Given the description of an element on the screen output the (x, y) to click on. 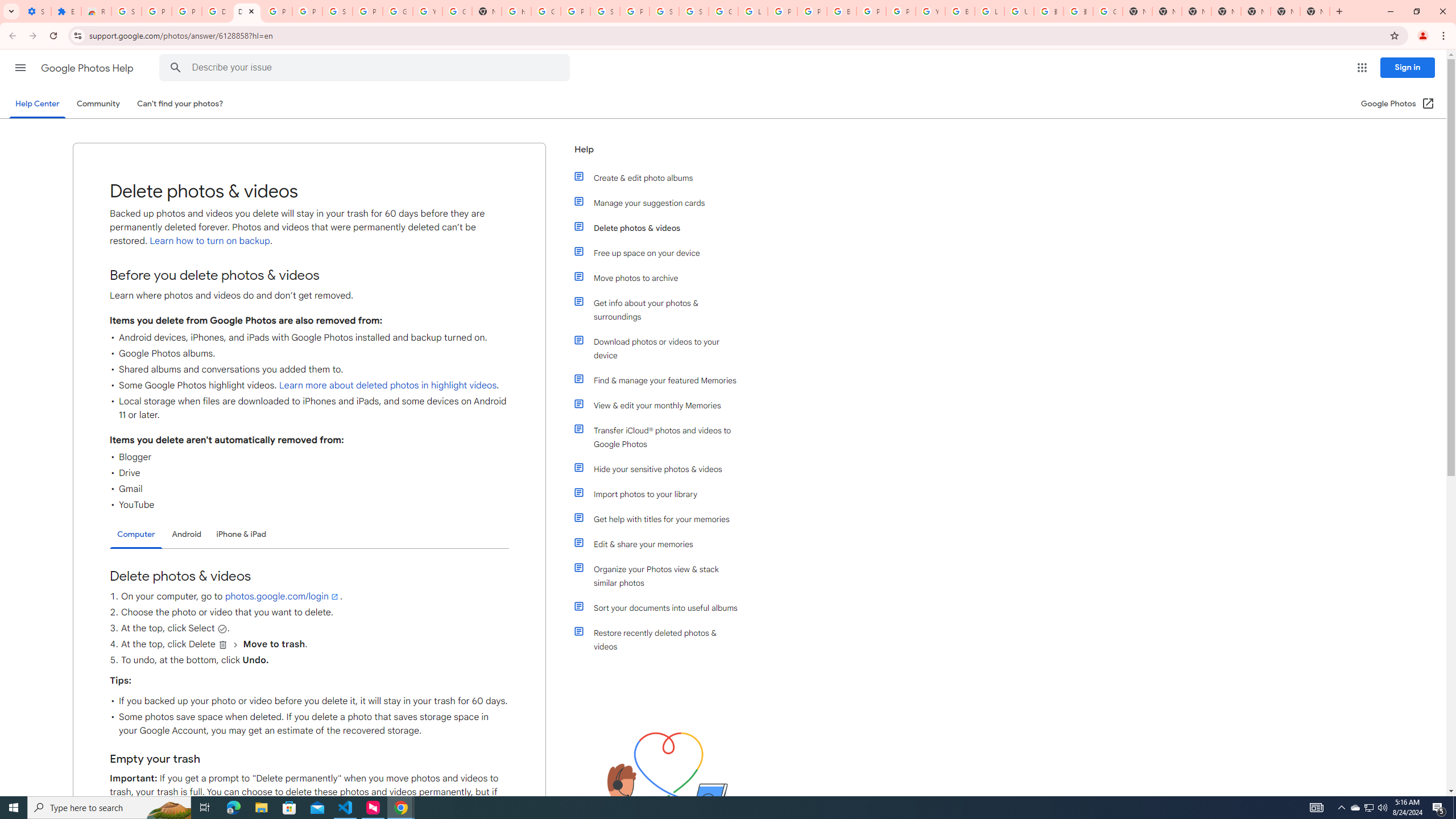
Download photos or videos to your device (661, 348)
YouTube (930, 11)
Get info about your photos & surroundings (661, 309)
New Tab (1226, 11)
Move photos to archive (661, 277)
Help Center (36, 103)
Describe your issue (366, 67)
 Learn how to turn on backup (208, 240)
Organize your Photos view & stack similar photos (661, 575)
Google Photos Help (87, 68)
